Given the description of an element on the screen output the (x, y) to click on. 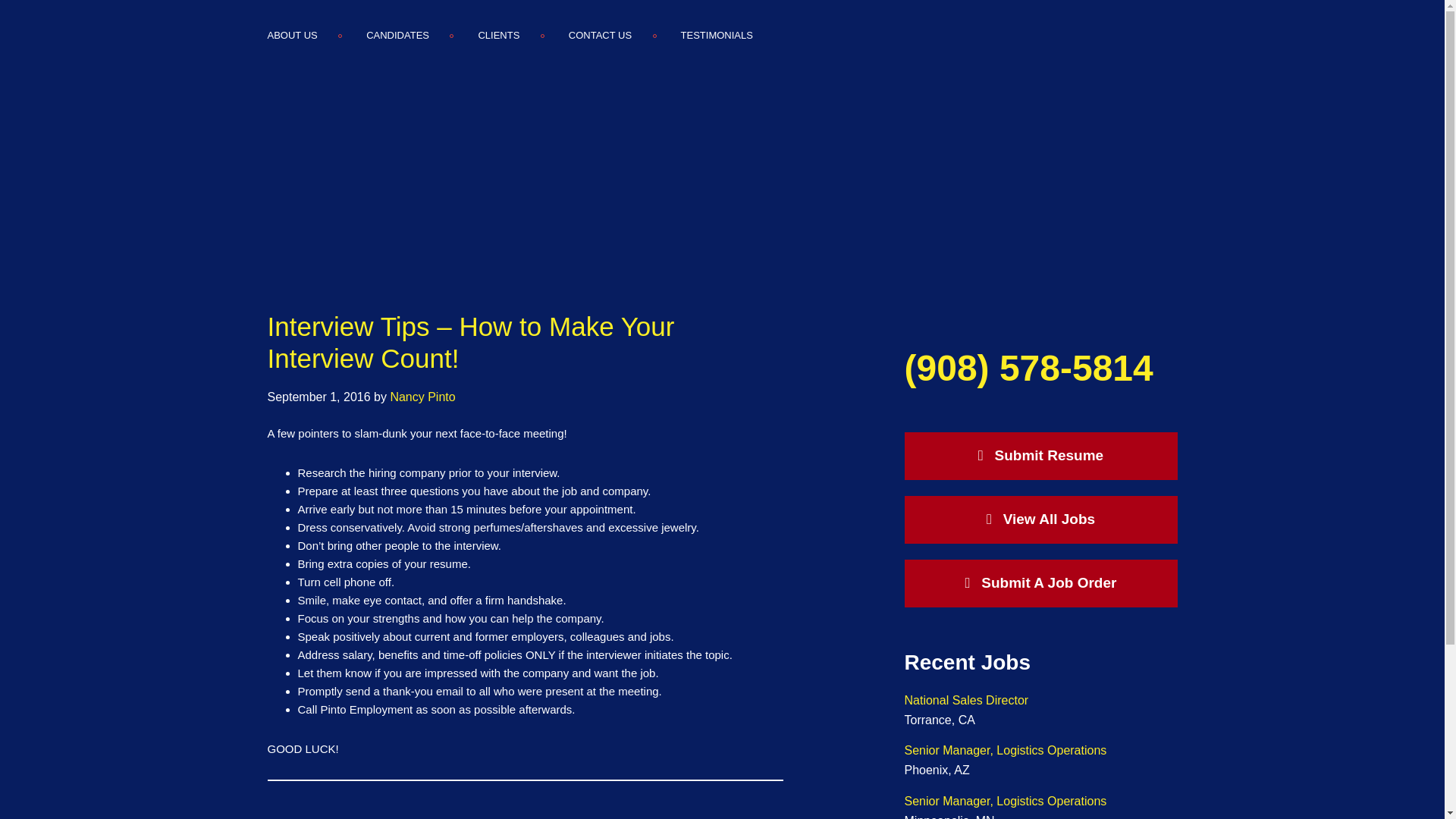
National Sales Director (965, 699)
ABOUT US (302, 35)
Nancy Pinto (422, 396)
Pinto Employment Search (1095, 37)
Call Today (1028, 368)
Submit A Job Order (1040, 583)
TESTIMONIALS (717, 35)
View All Jobs (1040, 519)
Senior Manager, Logistics Operations (1005, 749)
CANDIDATES (397, 35)
